Given the description of an element on the screen output the (x, y) to click on. 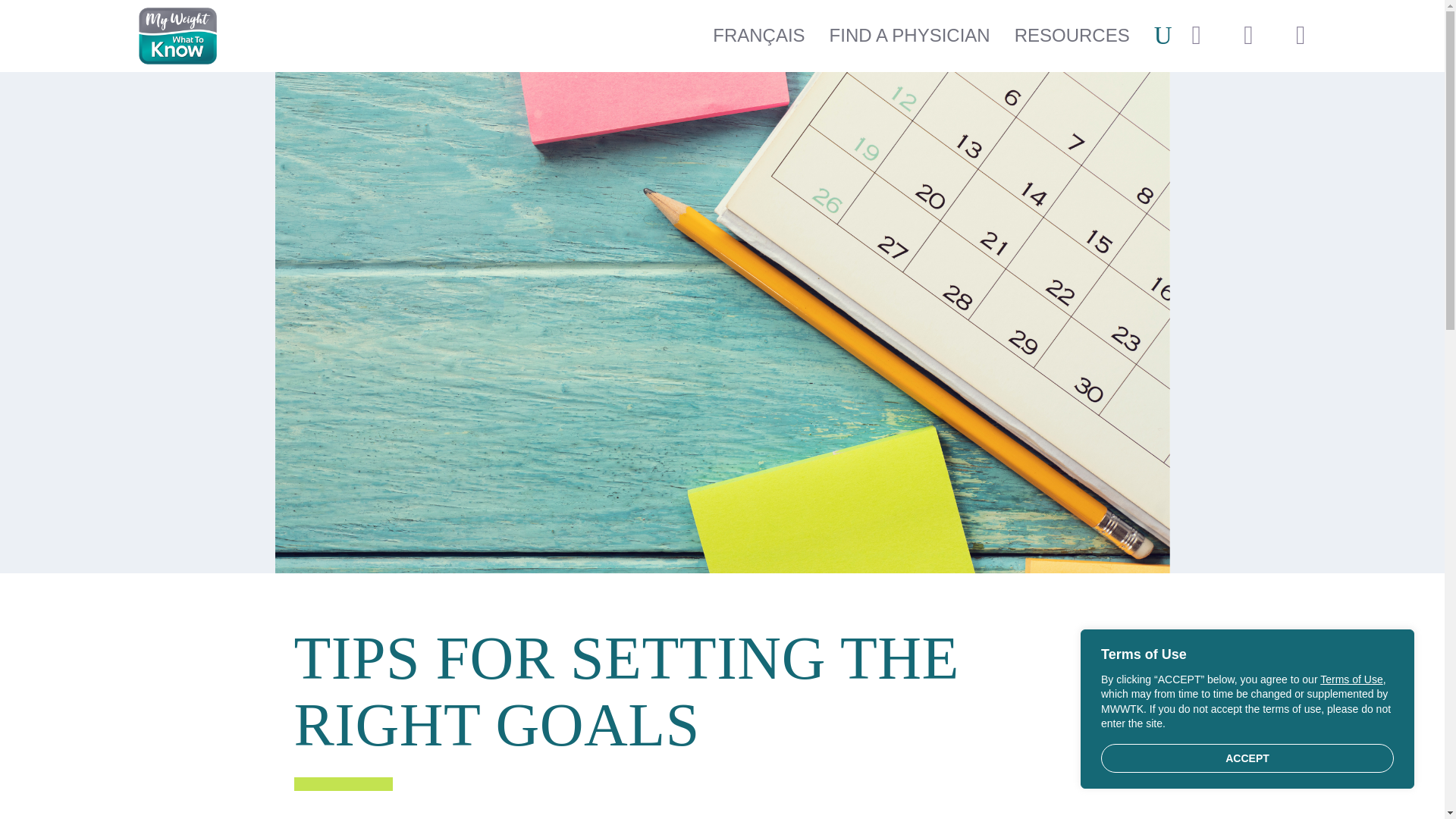
FIND A PHYSICIAN (913, 35)
RESOURCES (1075, 35)
ACCEPT (1246, 758)
Terms of Use (1350, 679)
